Given the description of an element on the screen output the (x, y) to click on. 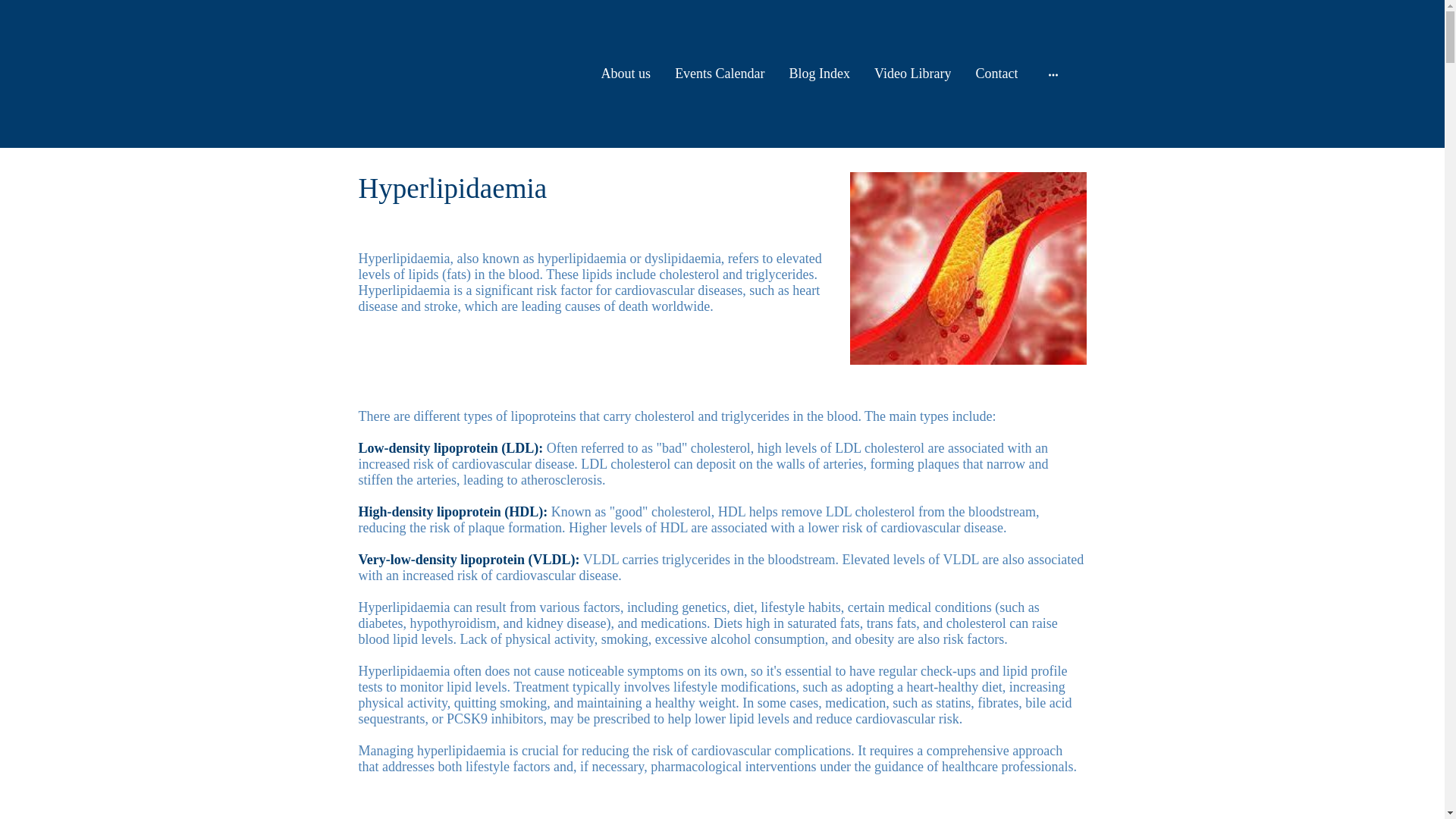
Events Calendar (718, 73)
Video Library (912, 73)
Contact (996, 73)
About us (626, 73)
Blog Index (820, 73)
